Given the description of an element on the screen output the (x, y) to click on. 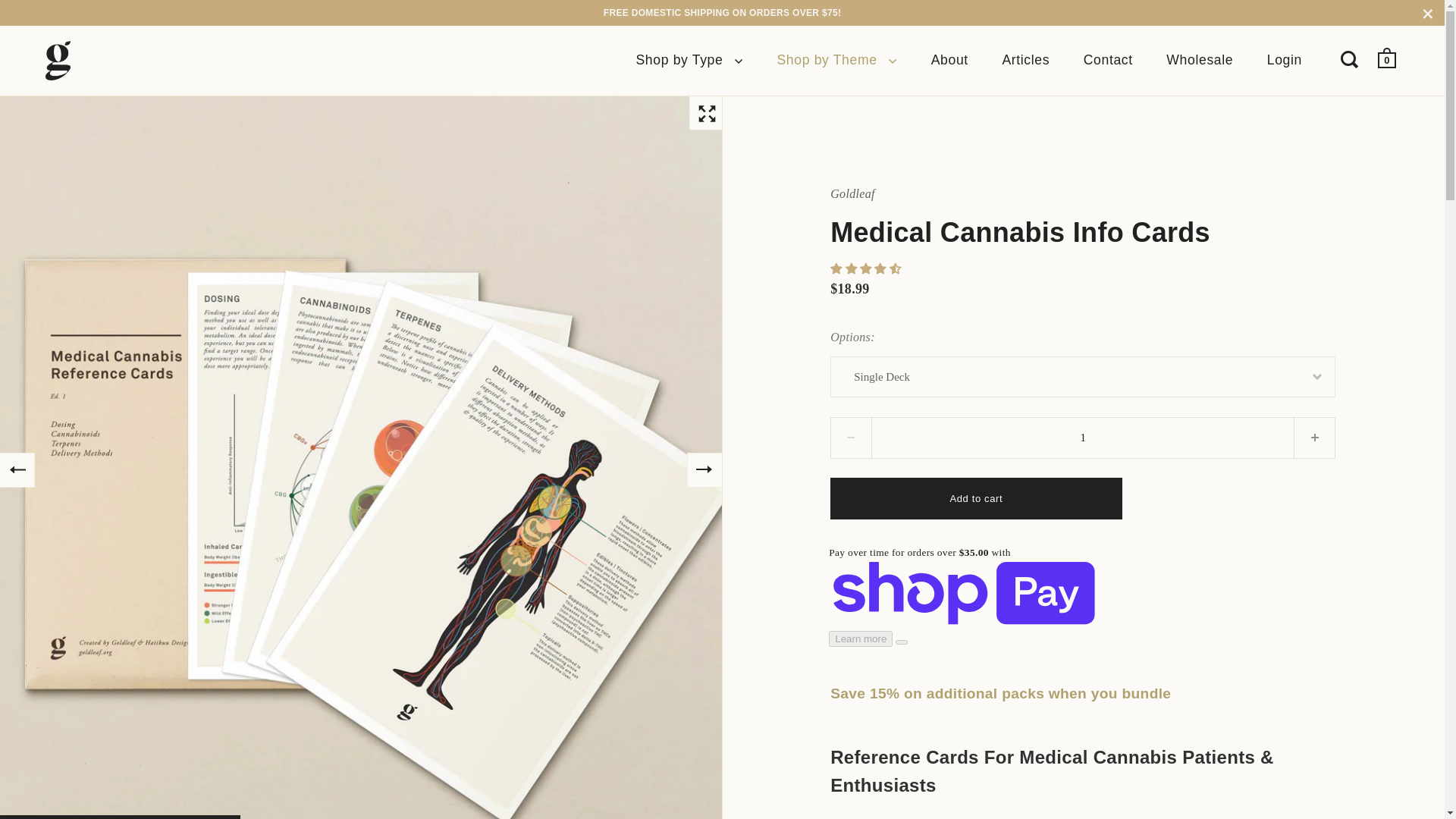
Open cart (1387, 57)
Articles (1025, 60)
Open search (1350, 58)
Contact (1108, 60)
Login (1284, 60)
Wholesale (1199, 60)
Zoom in (705, 112)
About (949, 60)
1 (1082, 437)
Shop by Theme (836, 60)
Shop by Type (688, 60)
